Given the description of an element on the screen output the (x, y) to click on. 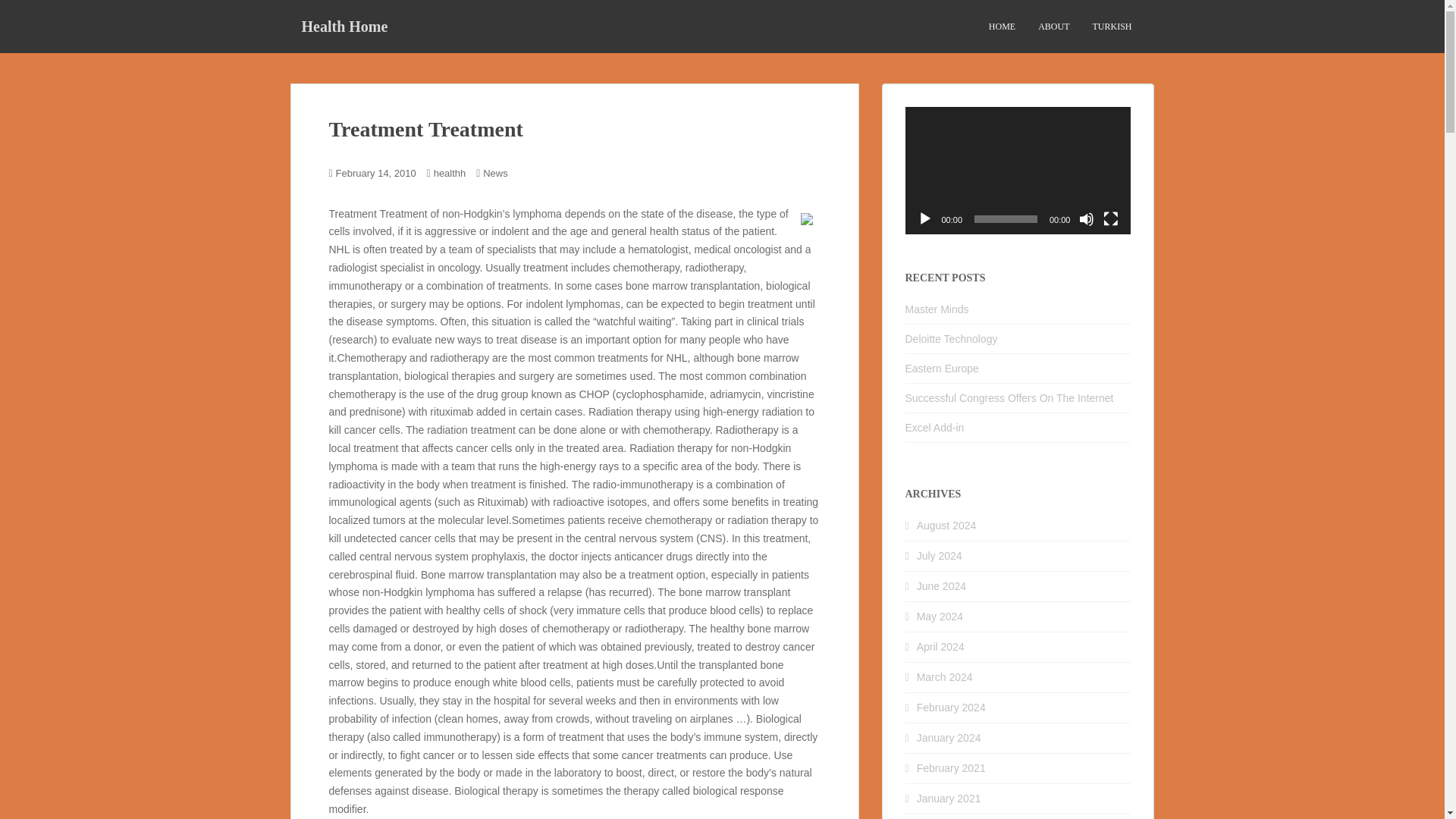
ABOUT (1053, 26)
February 2021 (951, 767)
February 2024 (951, 707)
June 2024 (941, 585)
Fullscreen (1110, 218)
January 2024 (949, 737)
Health Home (343, 26)
TURKISH (1111, 26)
May 2024 (939, 616)
March 2024 (944, 676)
